Given the description of an element on the screen output the (x, y) to click on. 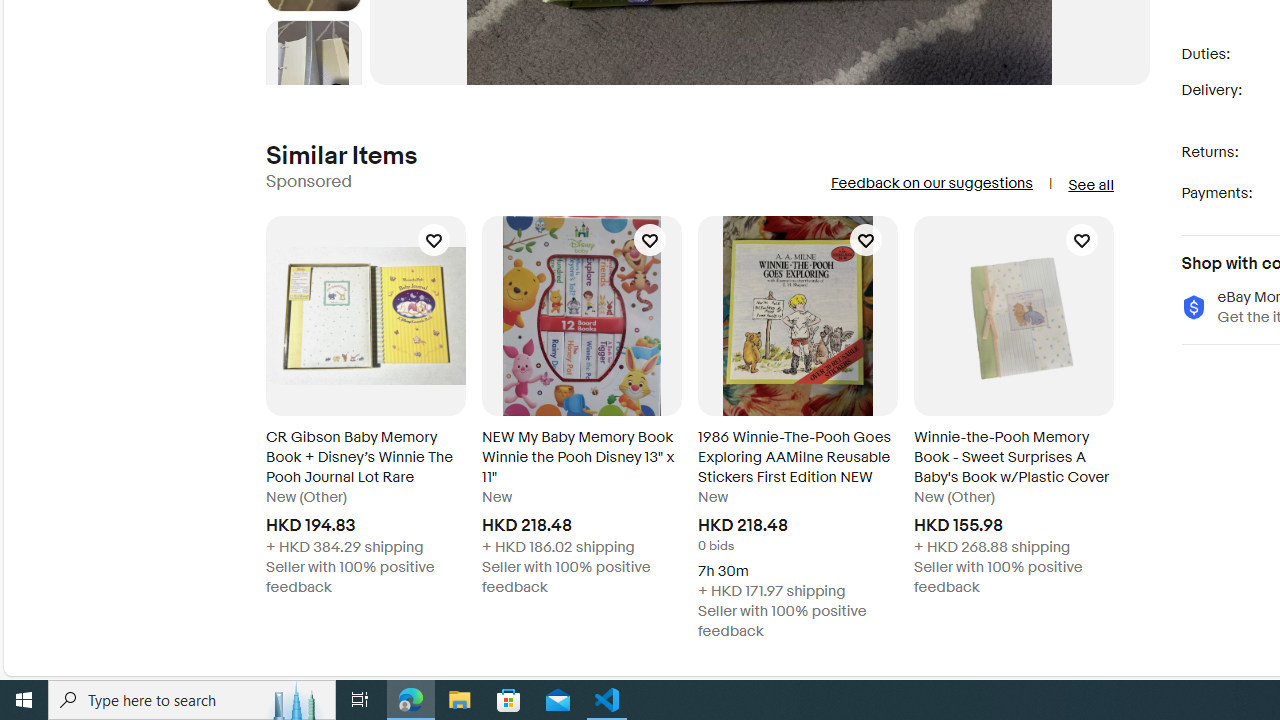
Feedback on our suggestions (930, 183)
Picture 6 of 22 (313, 67)
Next image - Item images thumbnails (313, 80)
See all (1090, 184)
Picture 6 of 22 (313, 67)
